Given the description of an element on the screen output the (x, y) to click on. 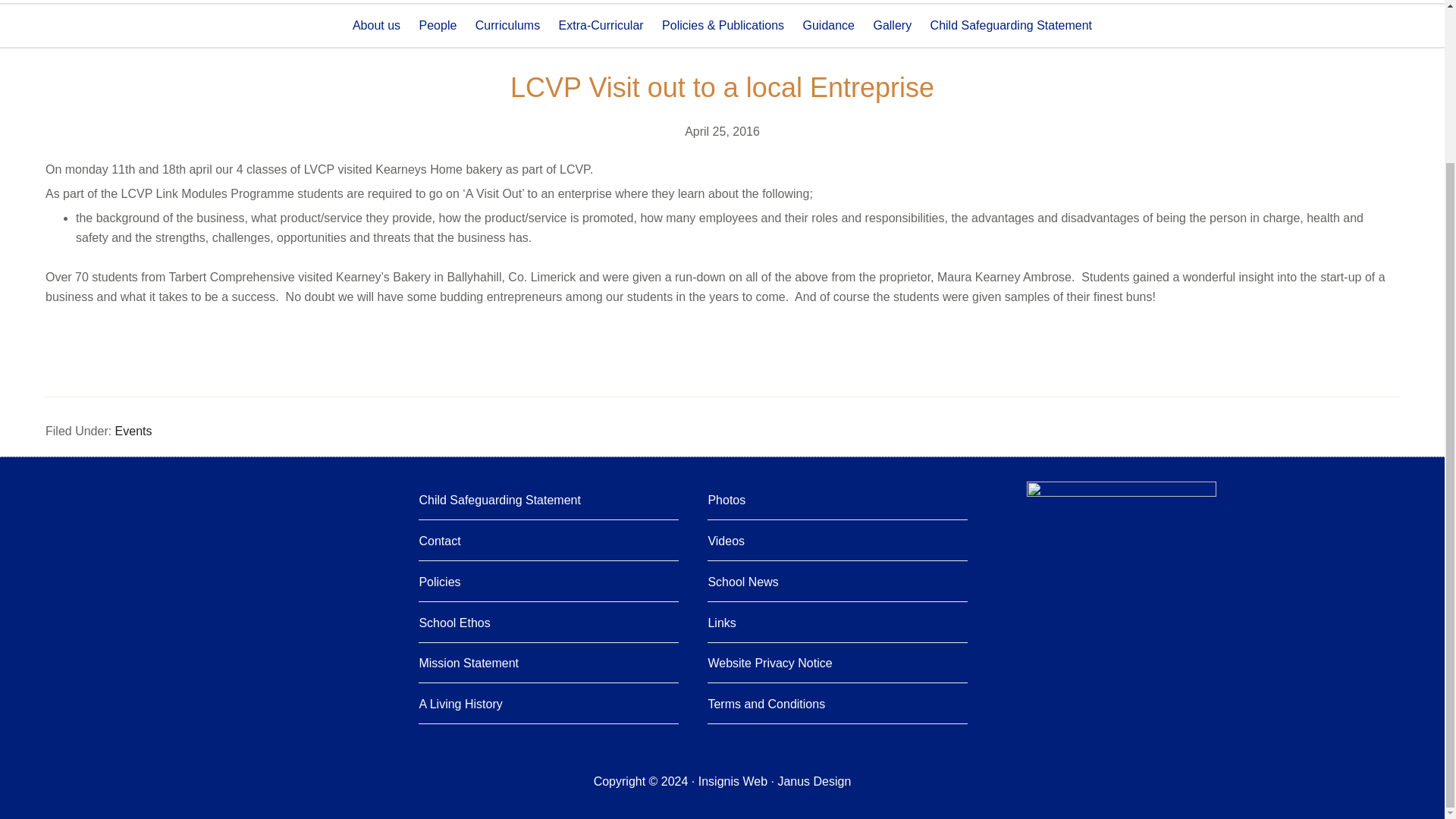
About us (376, 25)
People (438, 25)
Tarbert Comprehensive School (149, 5)
Extra-Curricular (600, 25)
Curriculums (507, 25)
